Given the description of an element on the screen output the (x, y) to click on. 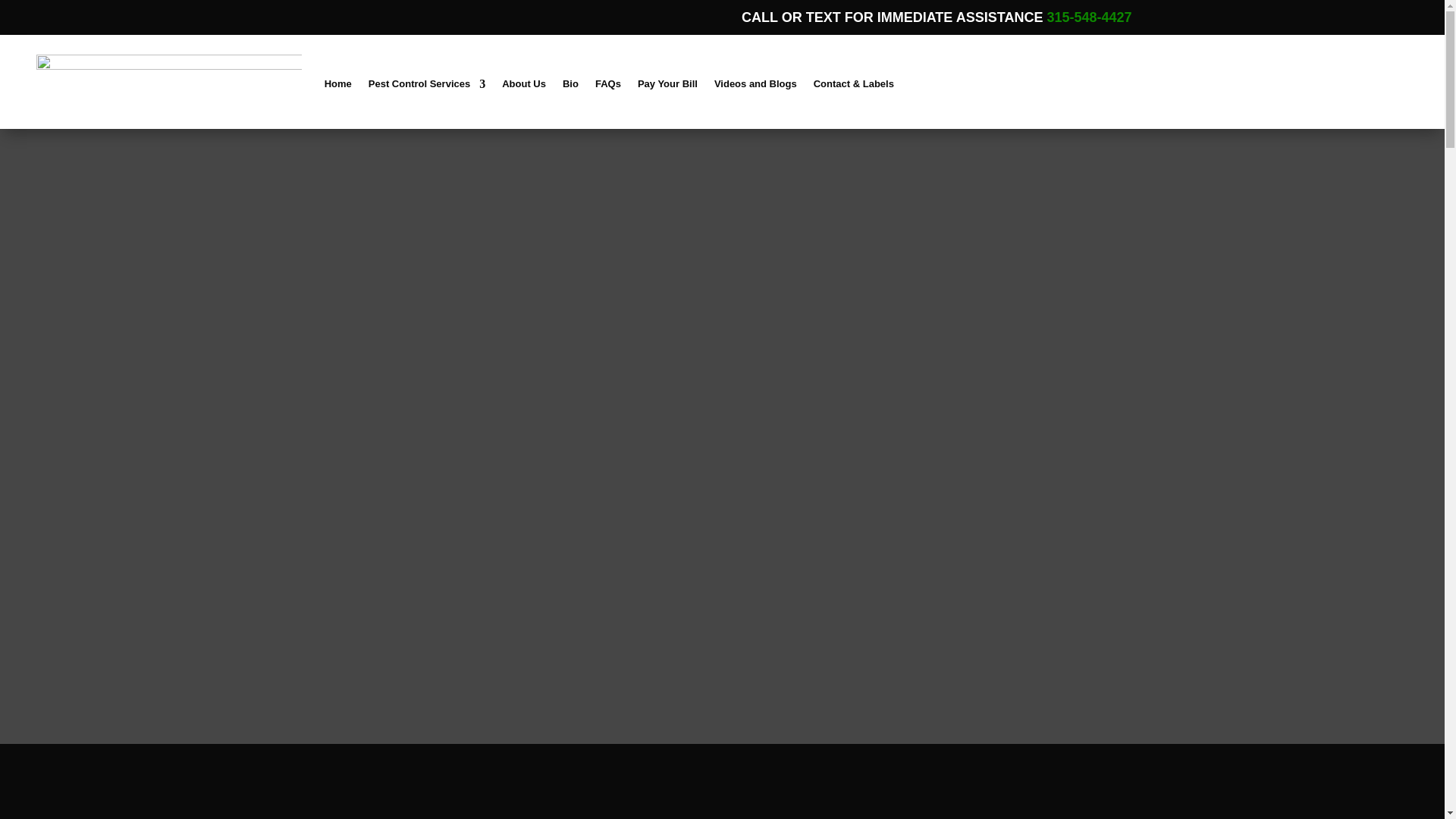
Pay Your Bill (667, 84)
Pest Control Services (426, 84)
Videos and Blogs (755, 84)
315-548-4427 (1088, 17)
